Given the description of an element on the screen output the (x, y) to click on. 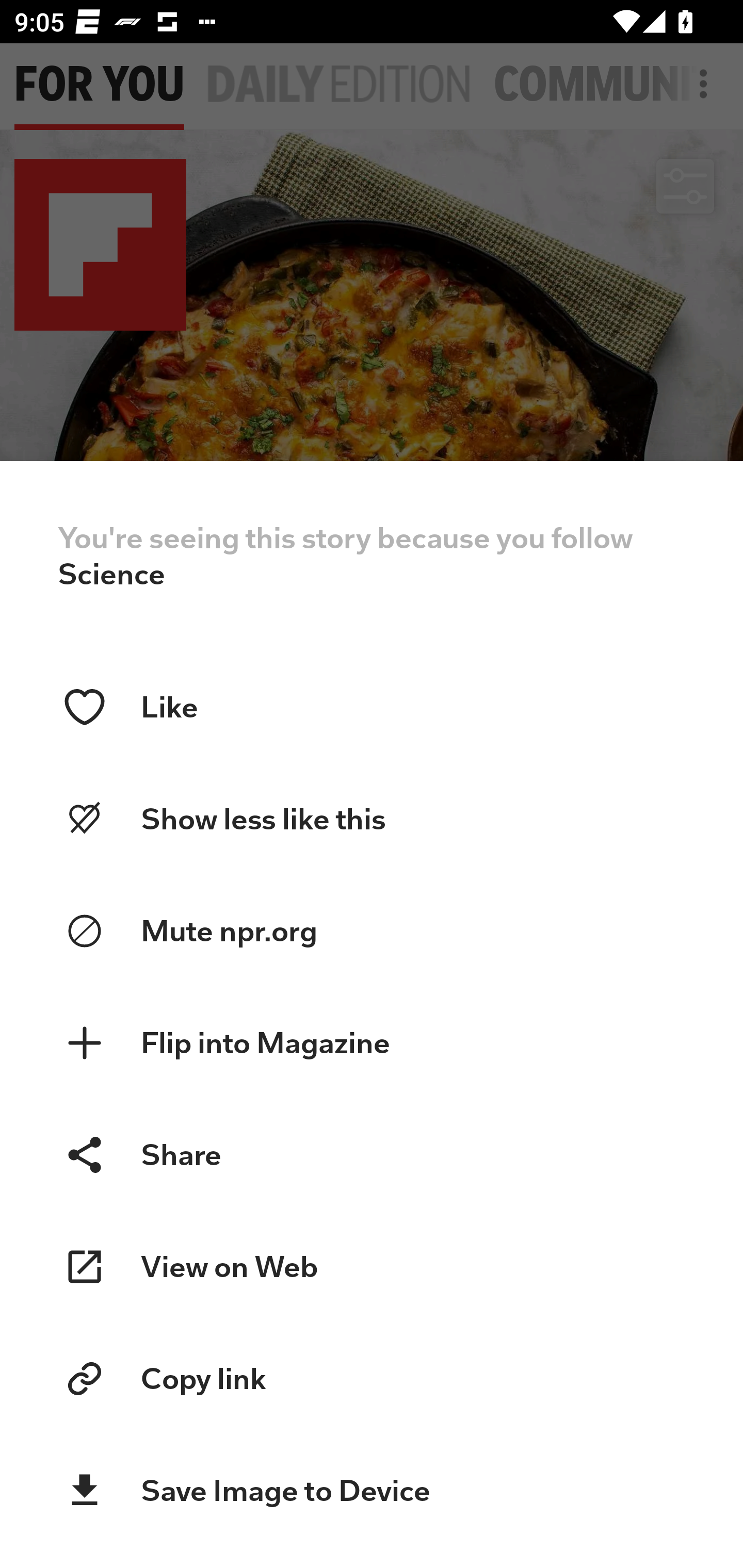
Like (371, 706)
Show less like this (371, 818)
Mute npr.org (371, 930)
Flip into Magazine (371, 1043)
Share (371, 1154)
View on Web (371, 1266)
Copy link (371, 1378)
Save Image to Device (371, 1490)
